Given the description of an element on the screen output the (x, y) to click on. 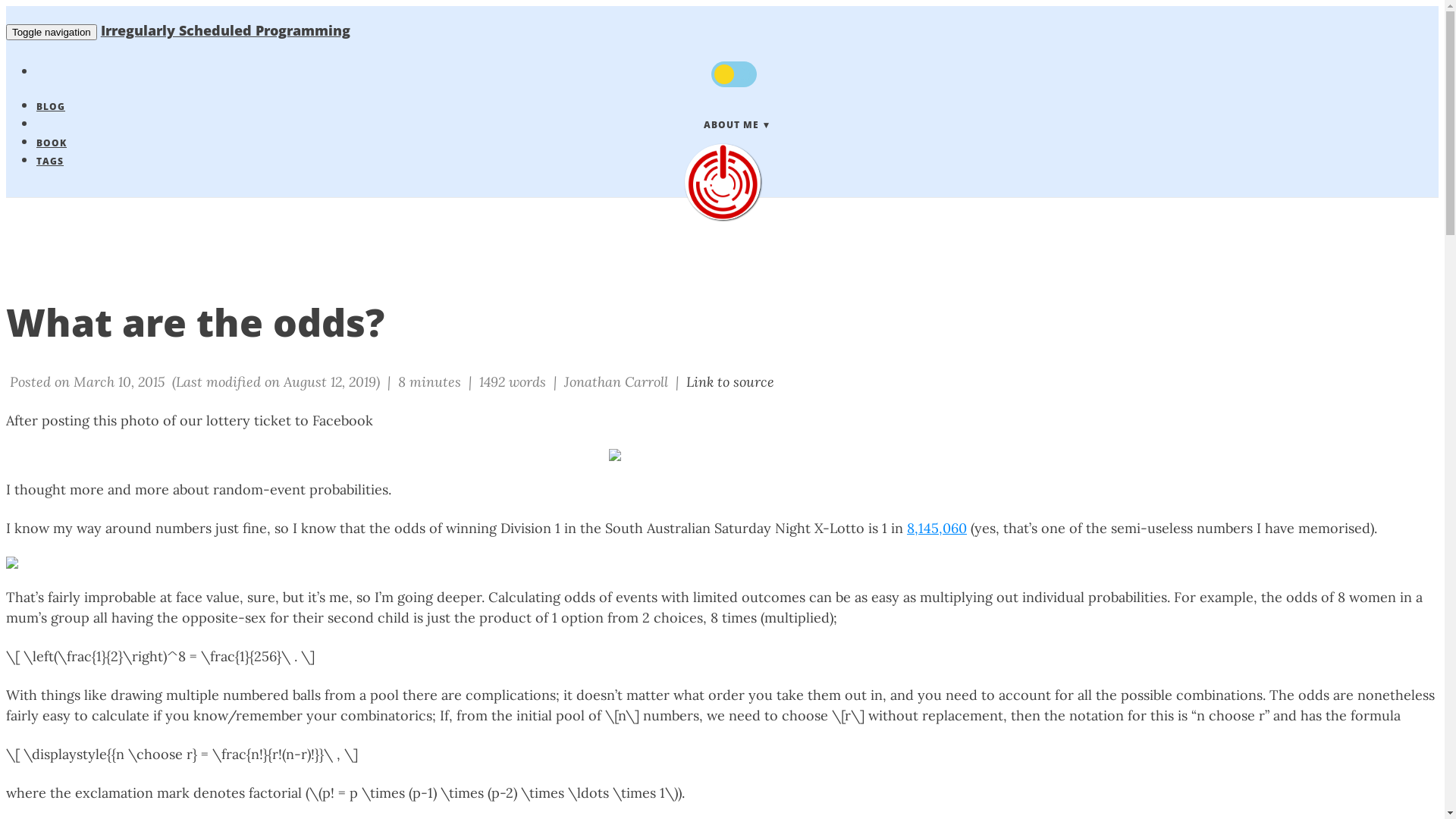
Toggle navigation Element type: text (51, 32)
BLOG Element type: text (50, 106)
Irregularly Scheduled Programming Element type: text (225, 30)
TAGS Element type: text (49, 160)
ABOUT ME Element type: text (737, 124)
Link to source Element type: text (730, 381)
BOOK Element type: text (51, 142)
8,145,060 Element type: text (936, 527)
Irregularly Scheduled Programming Element type: hover (721, 181)
